Given the description of an element on the screen output the (x, y) to click on. 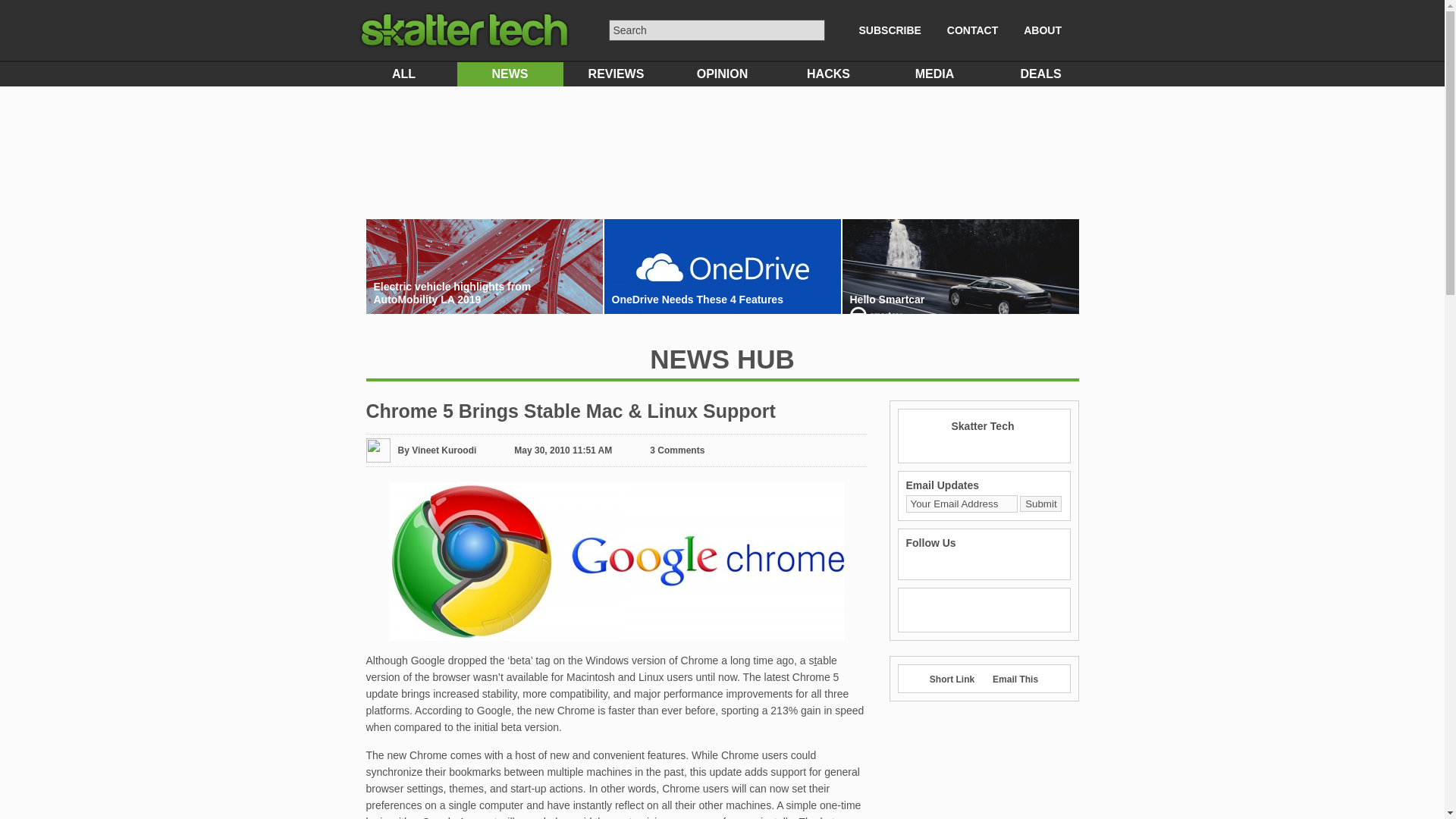
Go To: Hello Smartcar (959, 309)
3 Comments (676, 450)
ABOUT (1042, 30)
NEWS (509, 74)
REVIEWS (615, 74)
Opinion (721, 74)
Skatter Tech (981, 426)
Go To: OneDrive Needs These 4 Features (722, 299)
Vineet Kuroodi (444, 450)
CONTACT (972, 30)
